Given the description of an element on the screen output the (x, y) to click on. 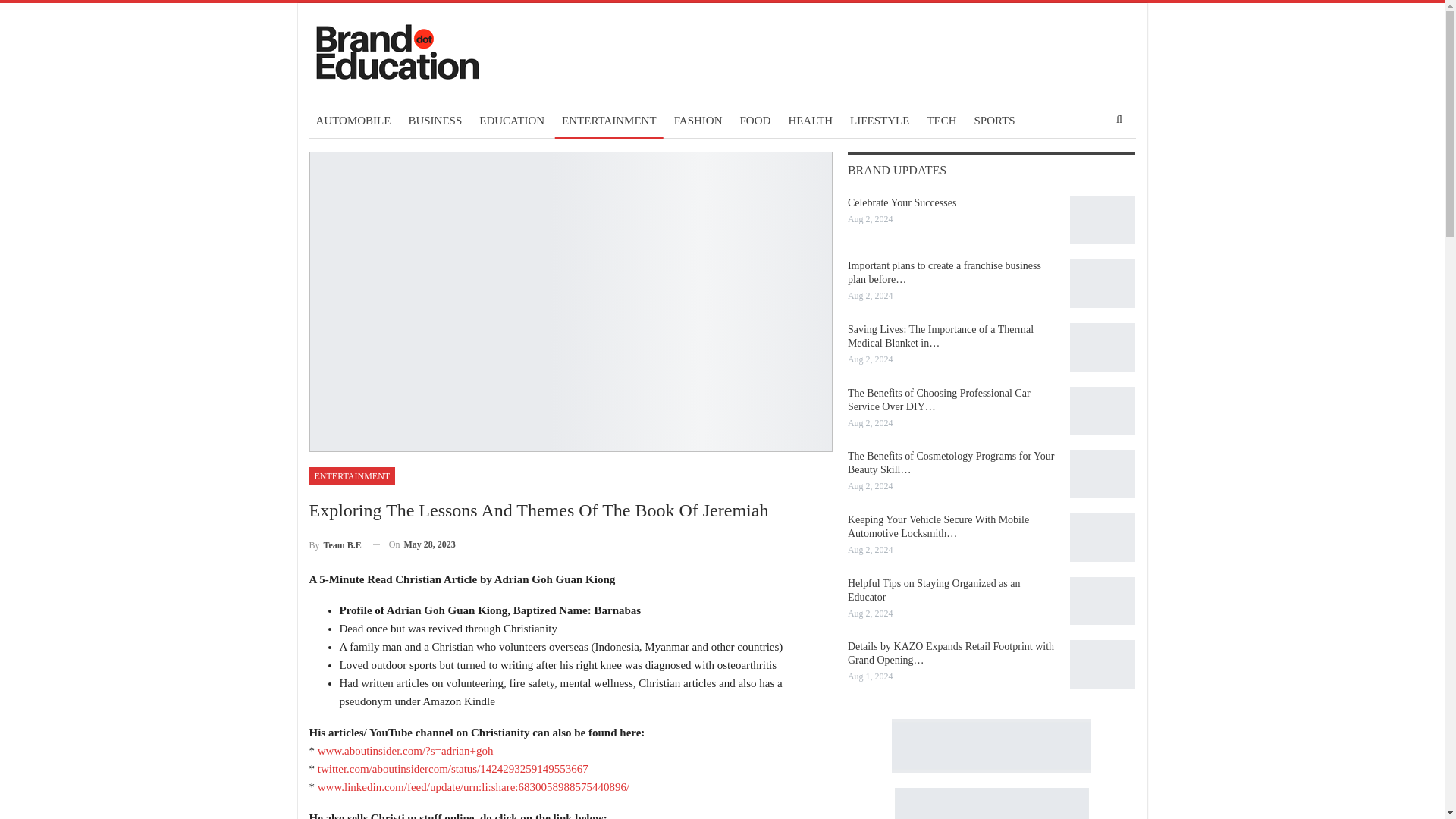
HEALTH (810, 120)
ENTERTAINMENT (352, 475)
EDUCATION (511, 120)
Celebrate Your Successes (1102, 220)
FOOD (755, 120)
LIFESTYLE (879, 120)
Browse Author Articles (334, 544)
By Team B.E (334, 544)
SPORTS (994, 120)
BUSINESS (434, 120)
Celebrate Your Successes (901, 202)
AUTOMOBILE (352, 120)
ENTERTAINMENT (608, 120)
TECH (941, 120)
FASHION (697, 120)
